Given the description of an element on the screen output the (x, y) to click on. 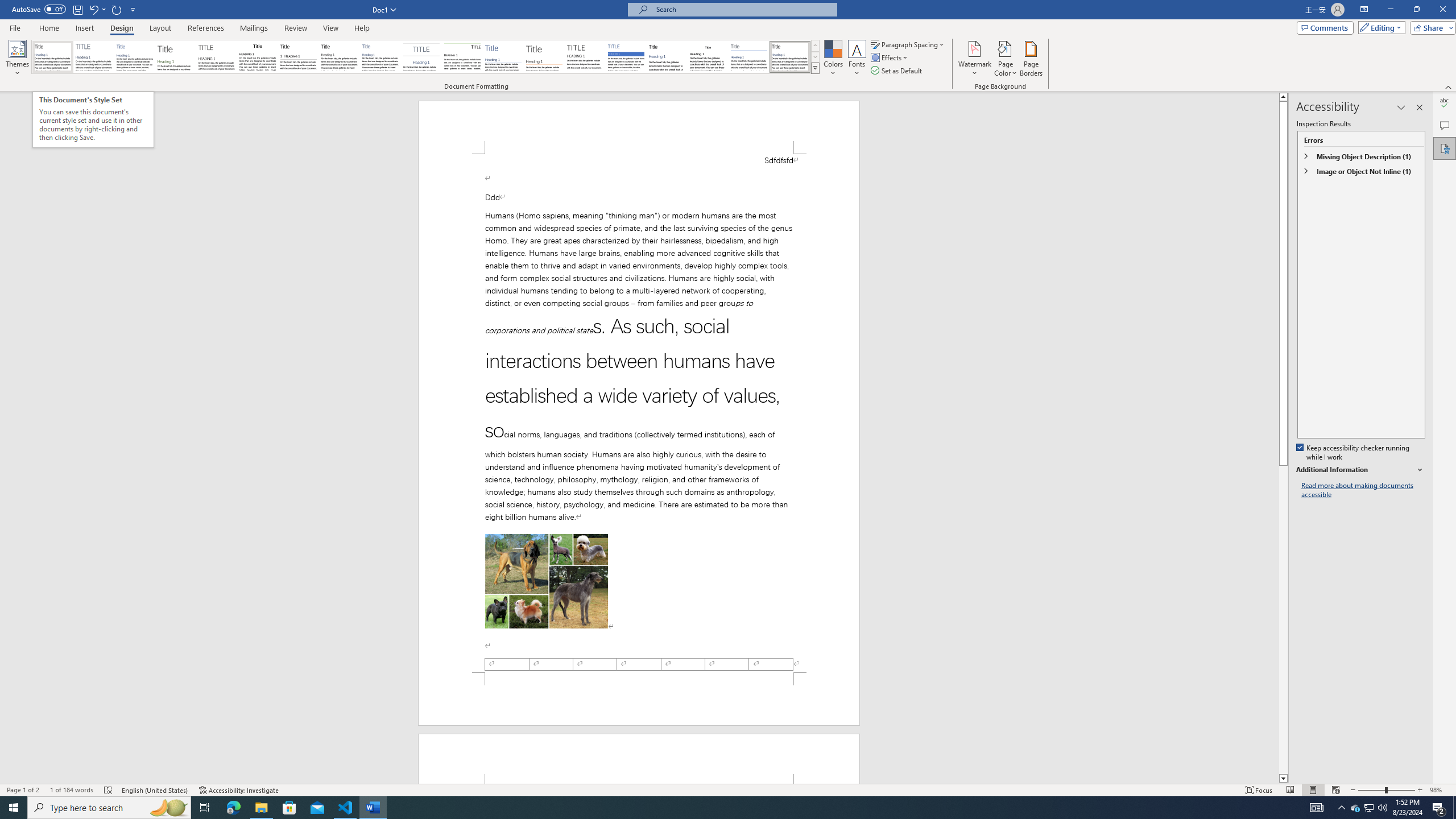
Document (52, 56)
Read more about making documents accessible (1363, 489)
Basic (Elegant) (93, 56)
Minimalist (584, 56)
Repeat Accessibility Checker (117, 9)
Watermark (974, 58)
